Given the description of an element on the screen output the (x, y) to click on. 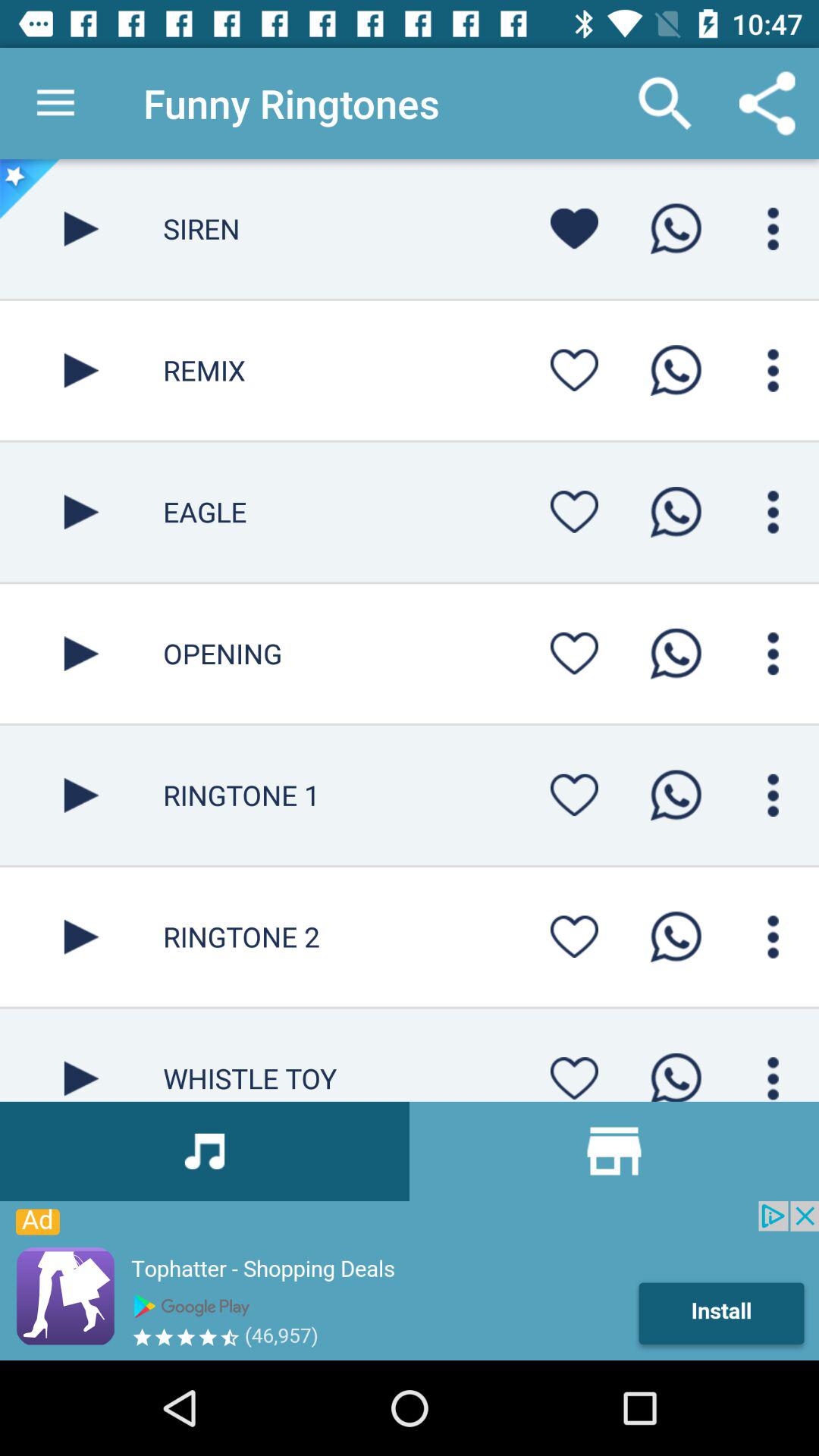
toggle favorite (574, 653)
